Given the description of an element on the screen output the (x, y) to click on. 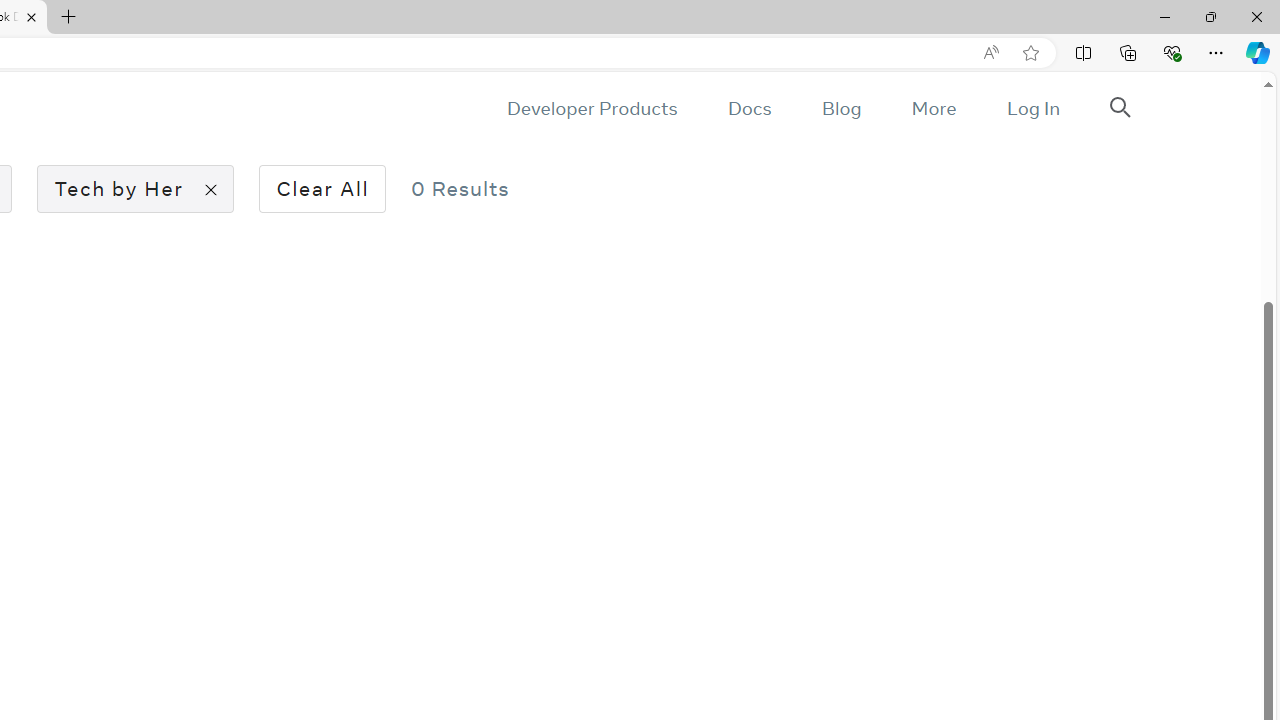
Developer Products (591, 108)
More (933, 108)
Docs (749, 108)
Log In (1032, 108)
Blog (841, 108)
Docs (749, 108)
Blog (841, 108)
